Given the description of an element on the screen output the (x, y) to click on. 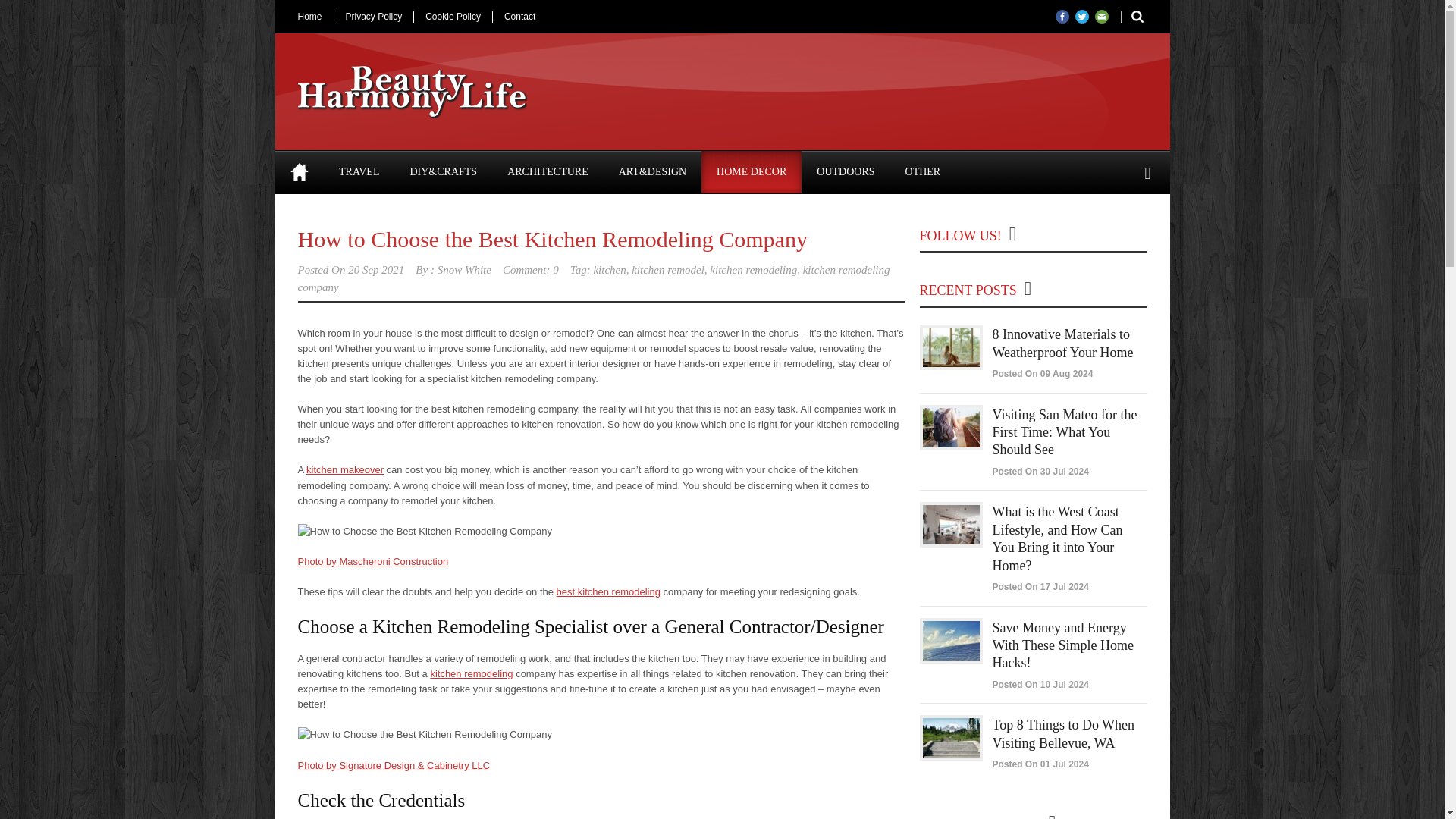
kitchen remodel (667, 269)
kitchen remodeling (753, 269)
Search submit (1131, 16)
TRAVEL (358, 171)
Contact (519, 16)
Home (299, 171)
OTHER (922, 171)
Snow White (465, 269)
ARCHITECTURE (548, 171)
How to Choose the Best Kitchen Remodeling Company (551, 238)
